Given the description of an element on the screen output the (x, y) to click on. 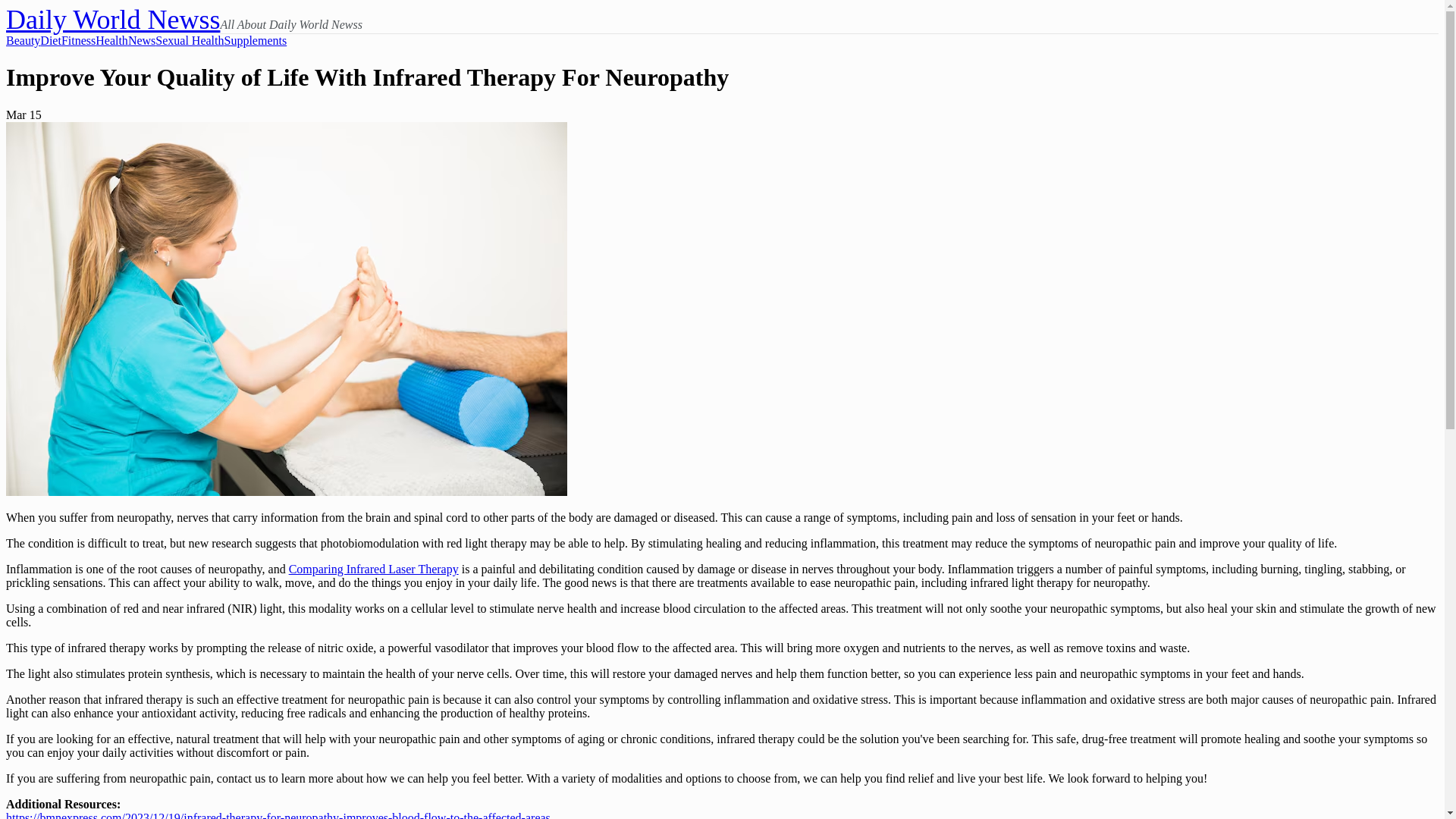
Diet (50, 40)
Comparing Infrared Laser Therapy (373, 568)
Supplements (255, 40)
Beauty (22, 40)
Health (112, 40)
Daily World Newss (112, 19)
Fitness (78, 40)
News (141, 40)
Sexual Health (189, 40)
